Given the description of an element on the screen output the (x, y) to click on. 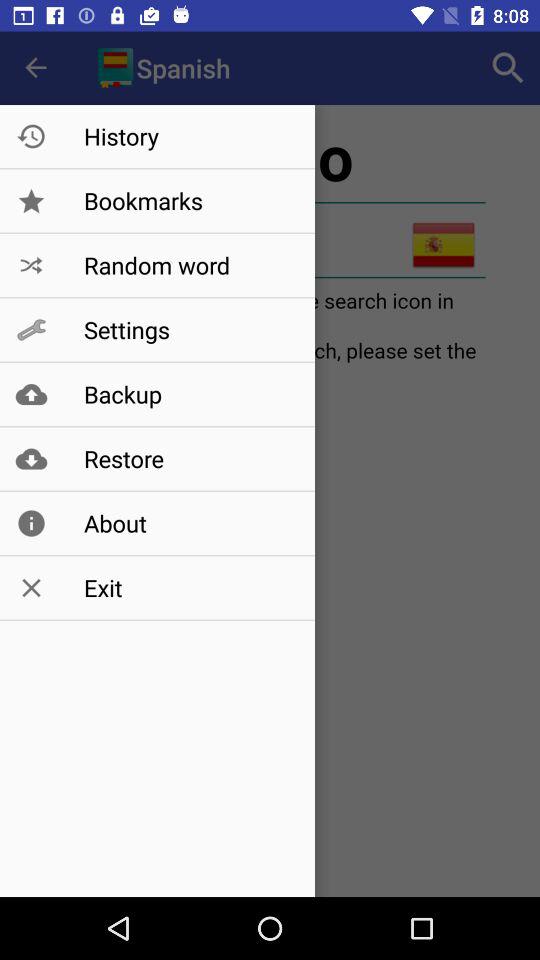
tap restore icon (188, 458)
